Given the description of an element on the screen output the (x, y) to click on. 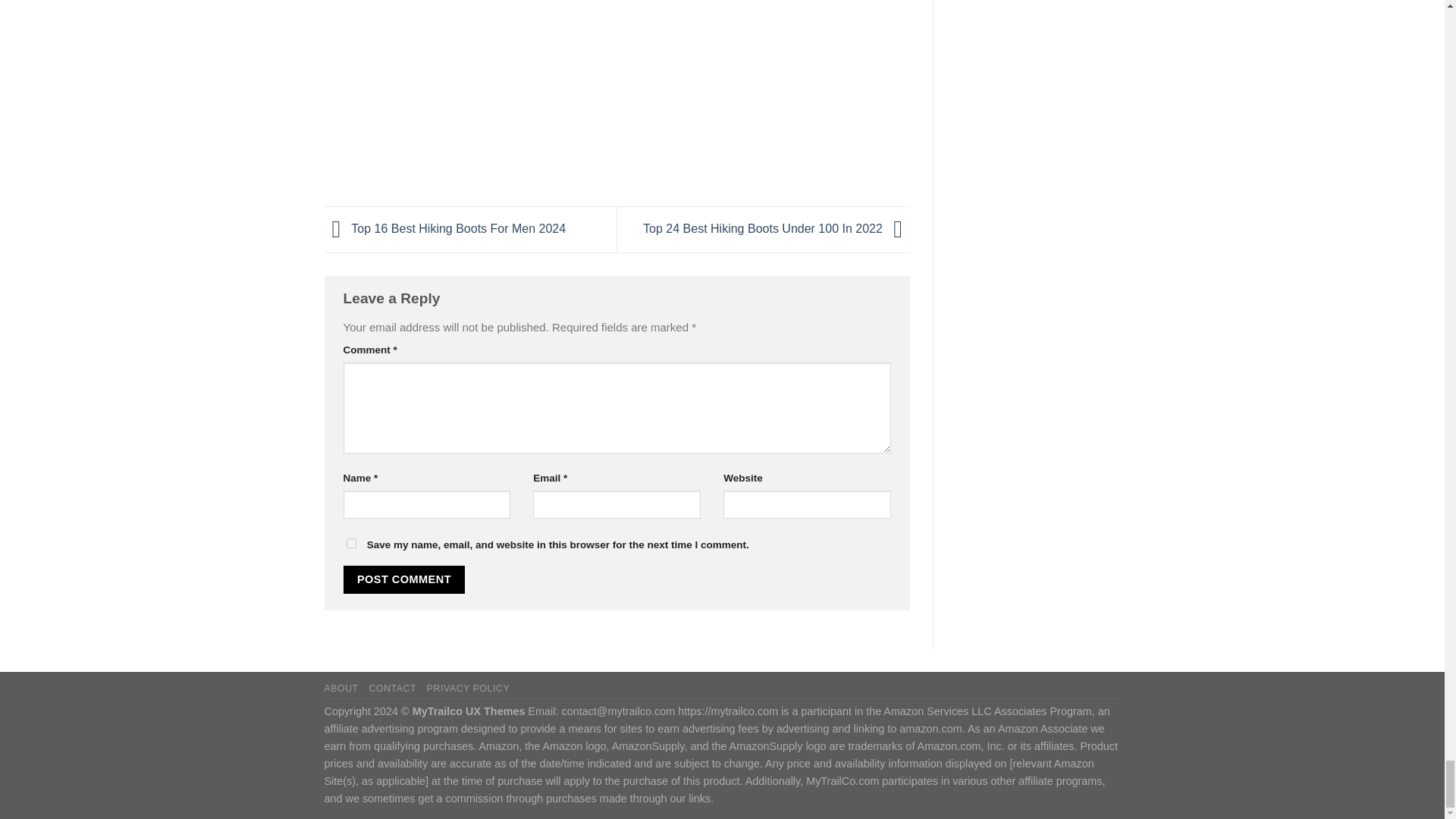
yes (350, 542)
Post Comment (403, 579)
